Given the description of an element on the screen output the (x, y) to click on. 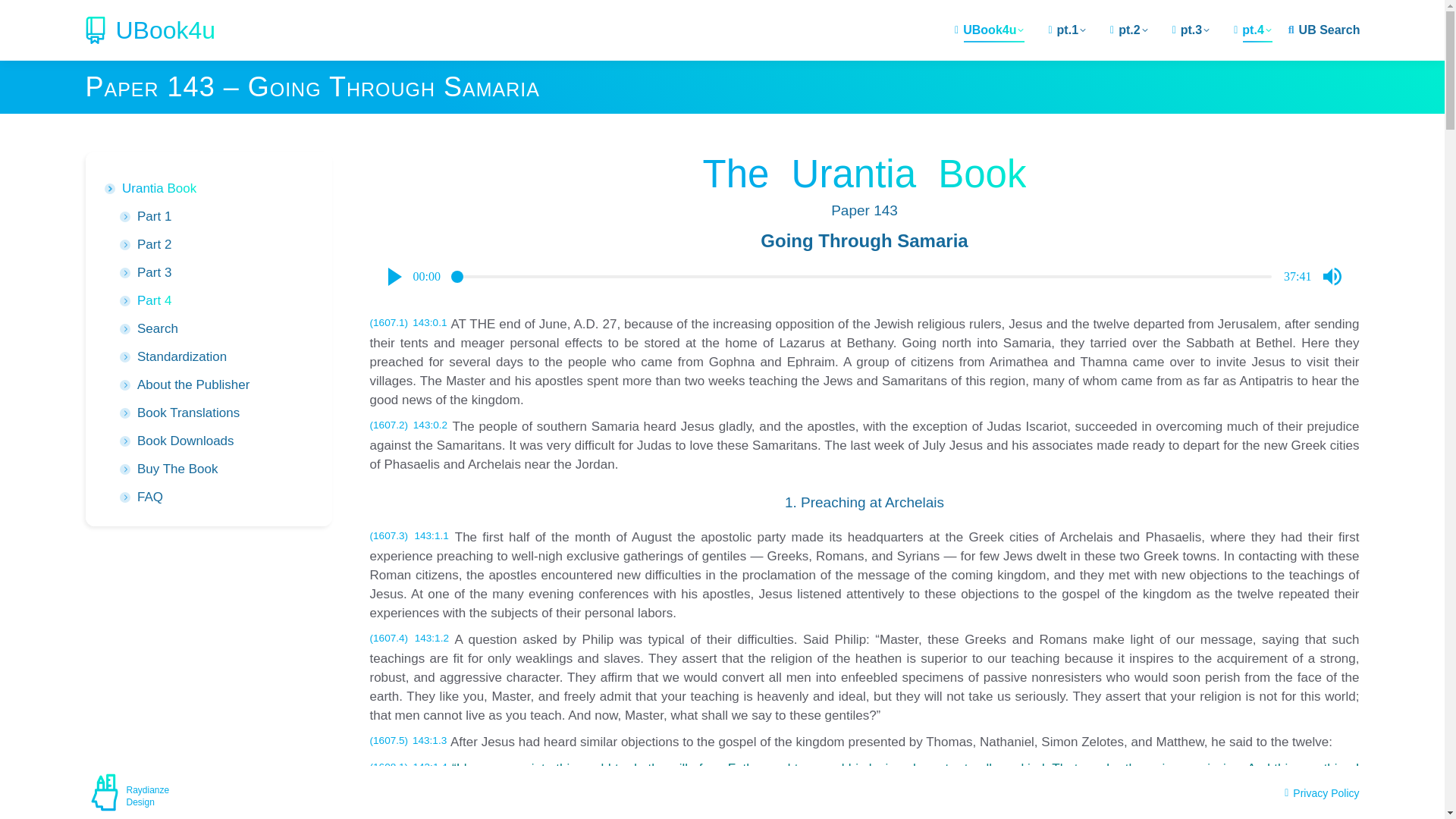
UBook4u (989, 30)
pt.1 (1067, 30)
